Given the description of an element on the screen output the (x, y) to click on. 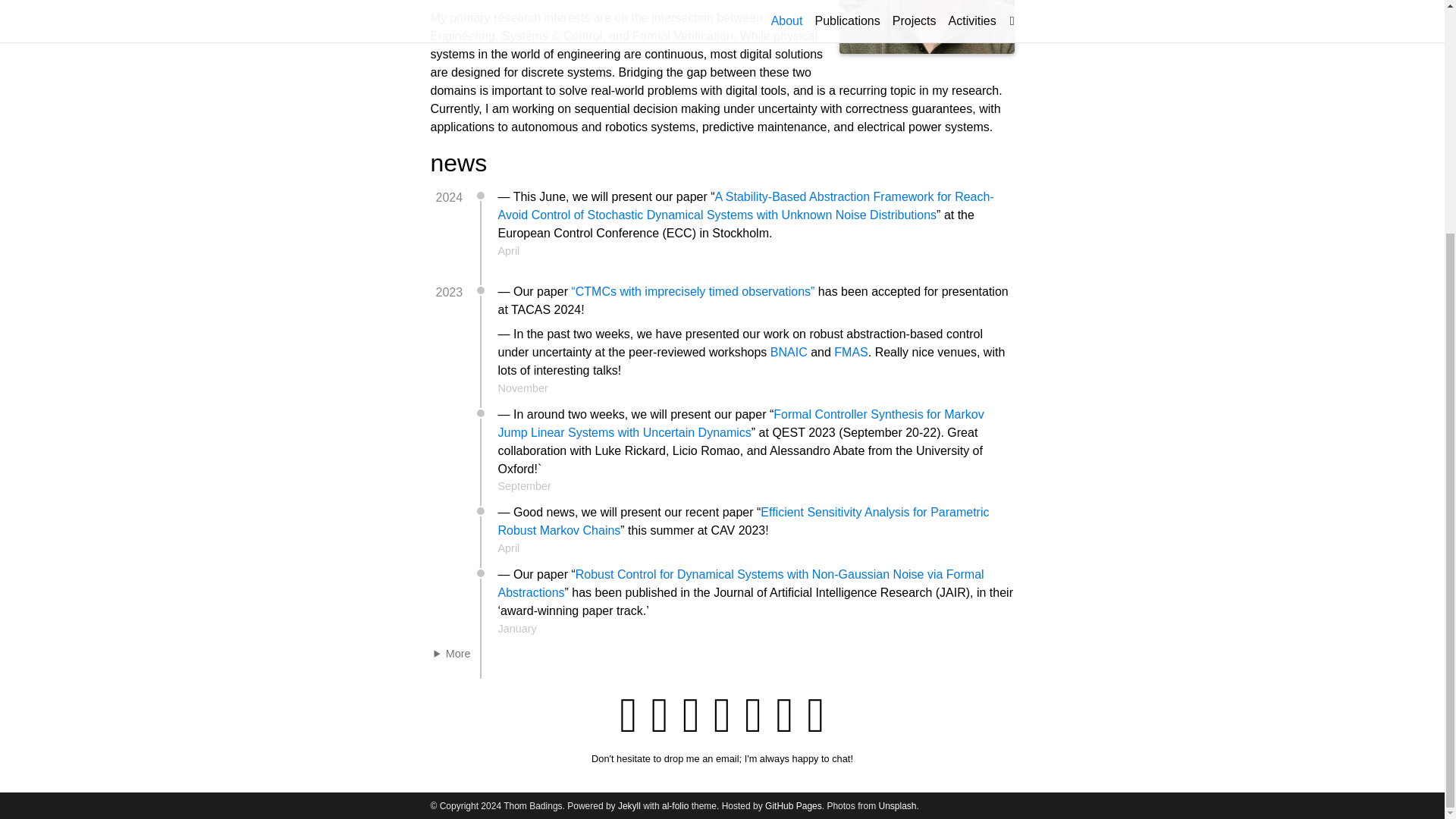
Google Scholar (691, 714)
BNAIC (789, 351)
al-folio (675, 488)
GitHub (721, 714)
email (628, 714)
RSS Feed (815, 714)
FMAS (850, 351)
Jekyll (628, 488)
Unsplash (896, 488)
ORCID (659, 714)
GitHub Pages (793, 488)
